Given the description of an element on the screen output the (x, y) to click on. 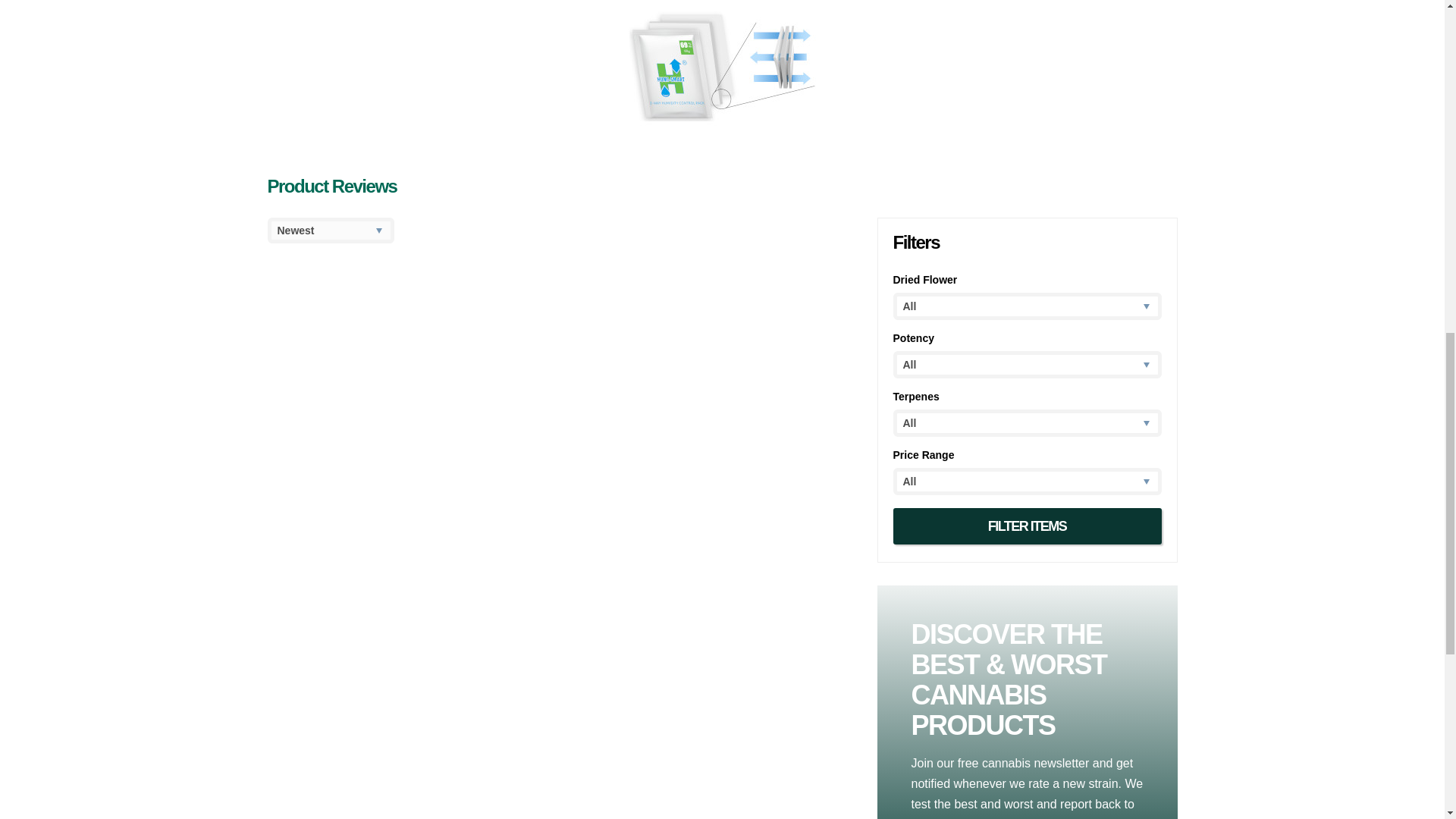
Filter Items (1027, 525)
